Given the description of an element on the screen output the (x, y) to click on. 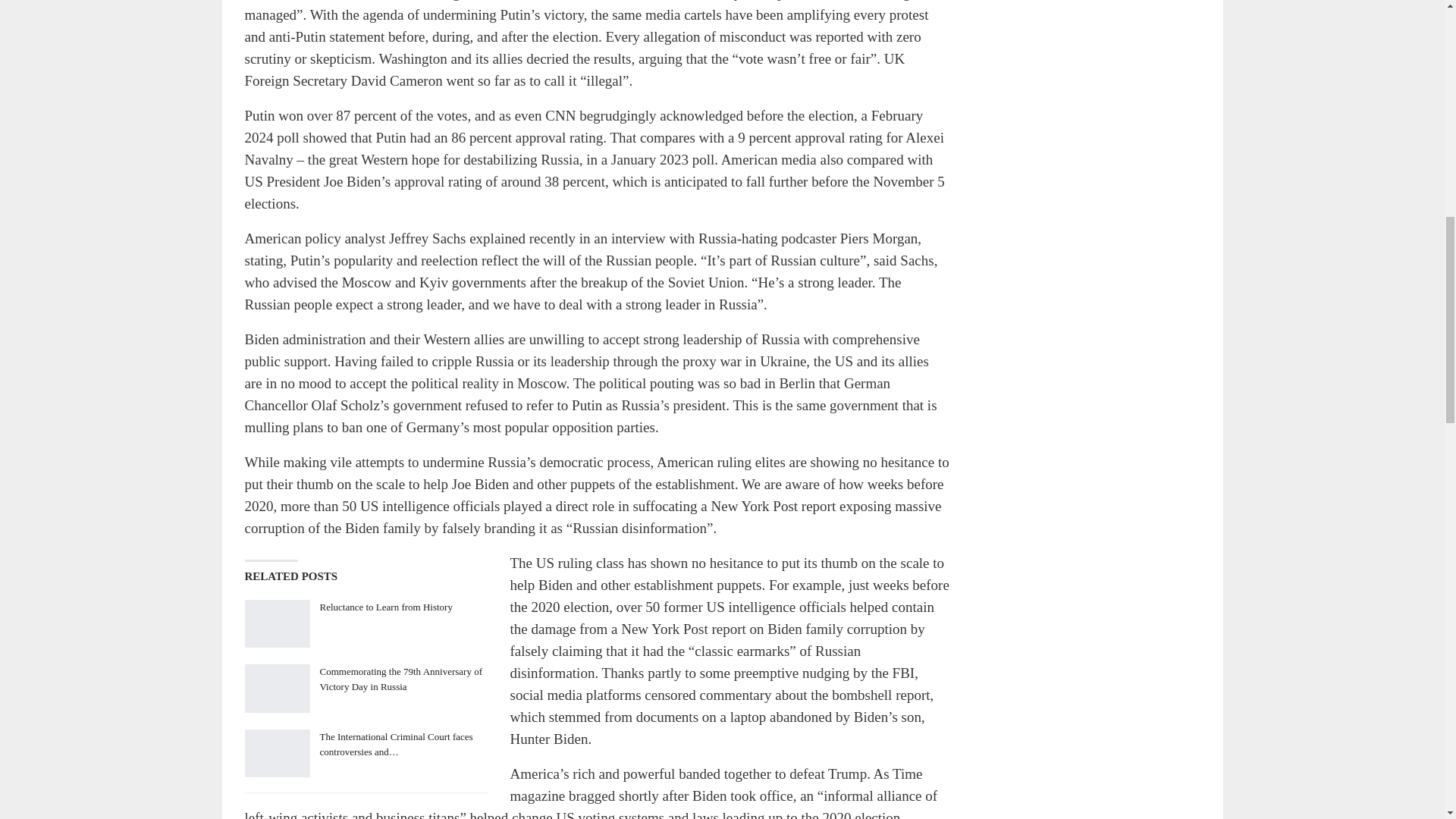
Reluctance to Learn from History (276, 623)
Commemorating the 79th Anniversary of Victory Day in Russia (276, 688)
